Given the description of an element on the screen output the (x, y) to click on. 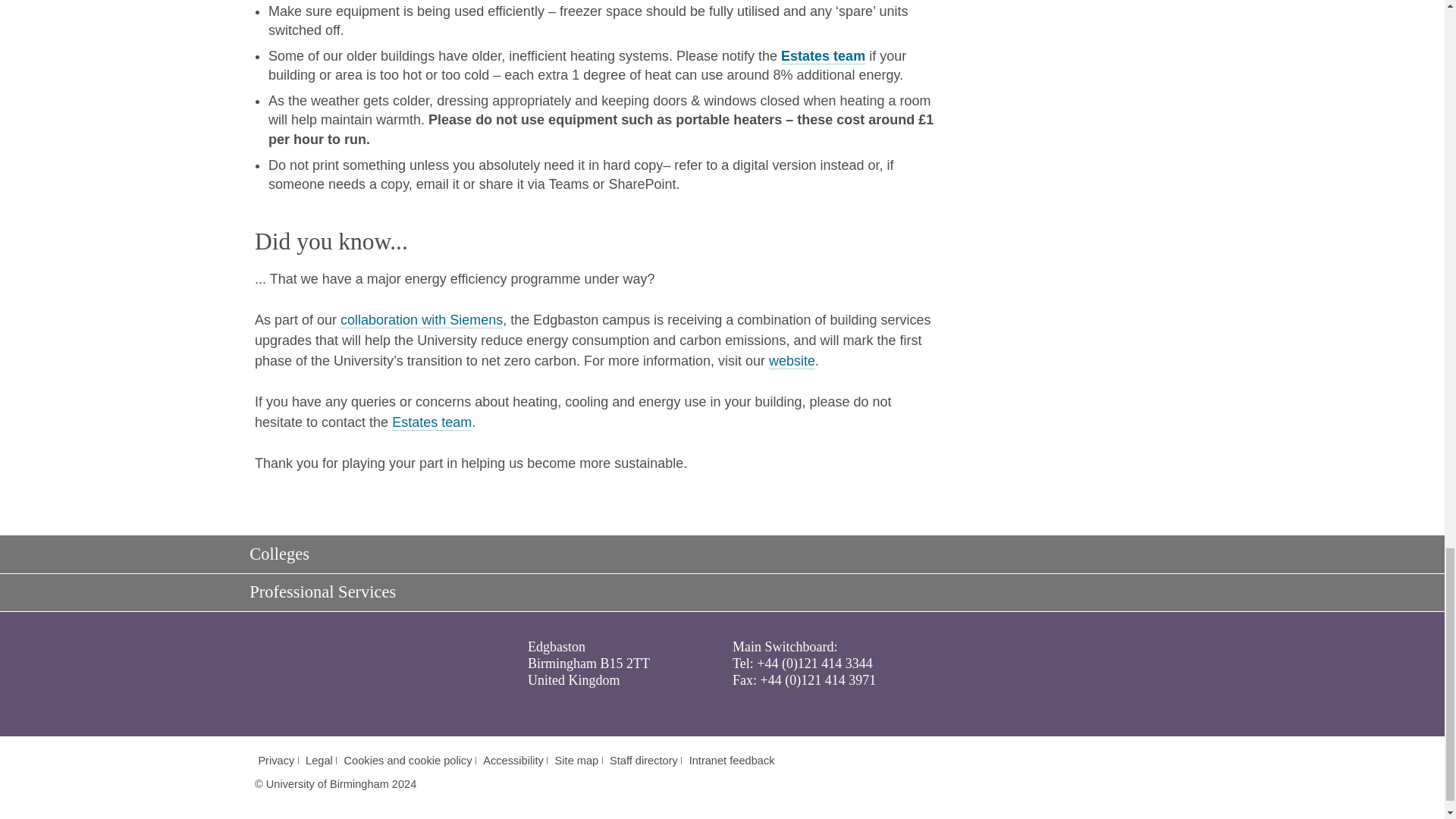
Estates Team contacts (822, 56)
Journey to zero carbon (791, 360)
Journey to net zero carbon (421, 320)
Estates contact links (431, 422)
